Given the description of an element on the screen output the (x, y) to click on. 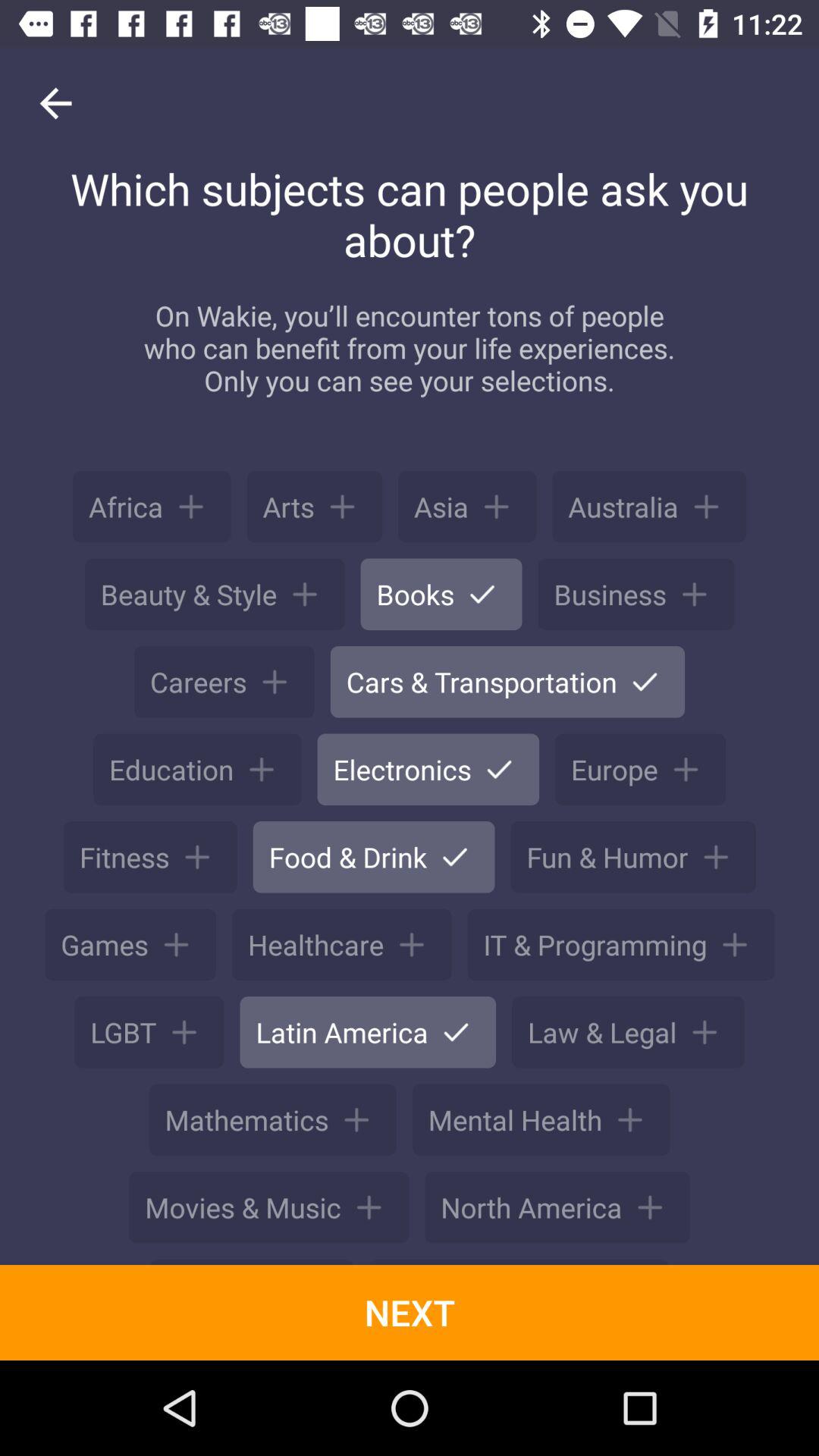
click on latin america (367, 1031)
click on north america  (556, 1206)
click on it  programming (620, 944)
select the text games (130, 944)
select the text europe  (640, 769)
click on the button above books (467, 506)
click on the button next to africa (314, 506)
click on the button on left of electronics (197, 769)
